Given the description of an element on the screen output the (x, y) to click on. 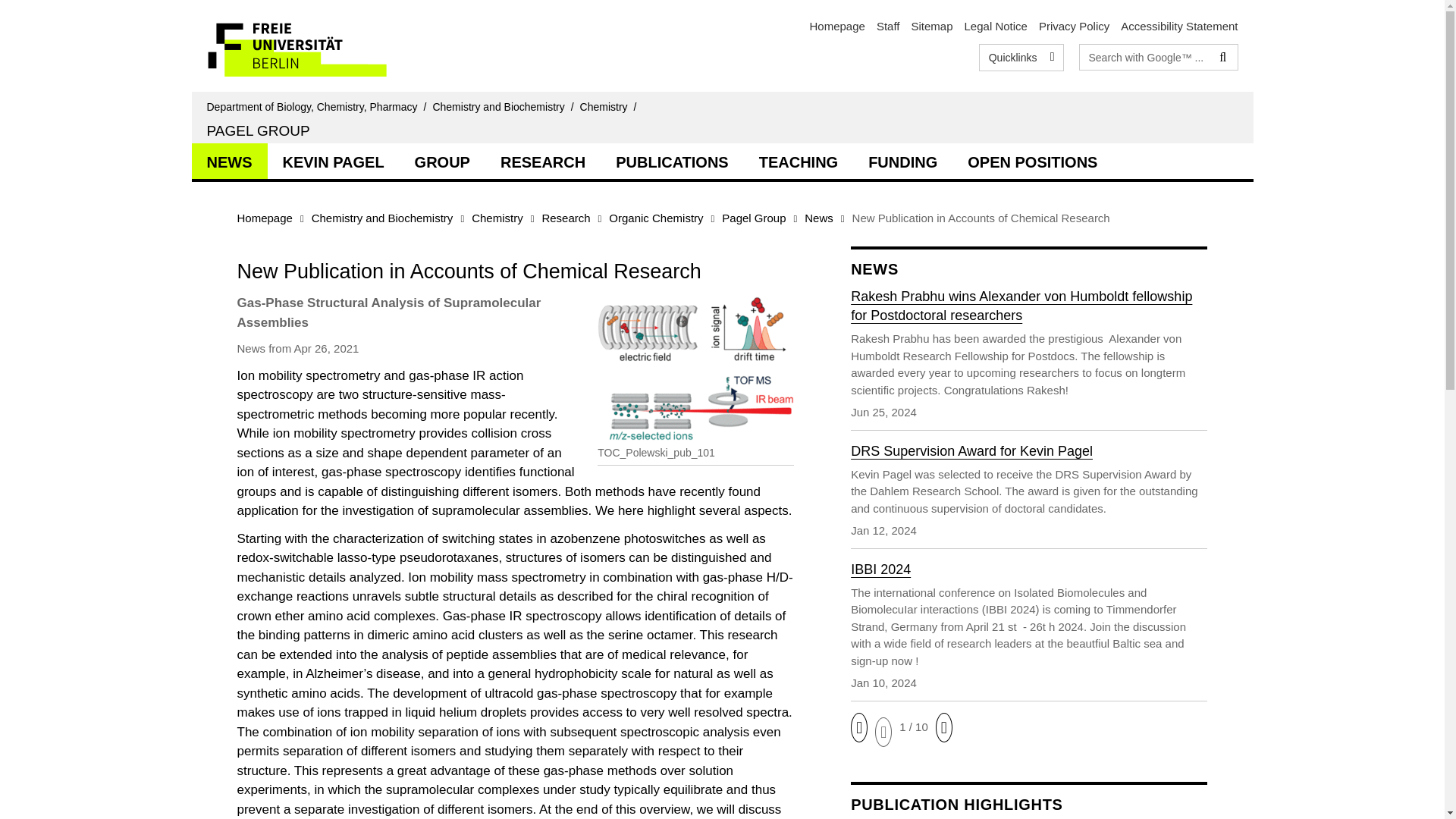
Accessibility Statement (1179, 25)
Sitemap (931, 25)
Privacy Policy (1074, 25)
Homepage (836, 25)
Staff (887, 25)
Legal Notice (995, 25)
